Given the description of an element on the screen output the (x, y) to click on. 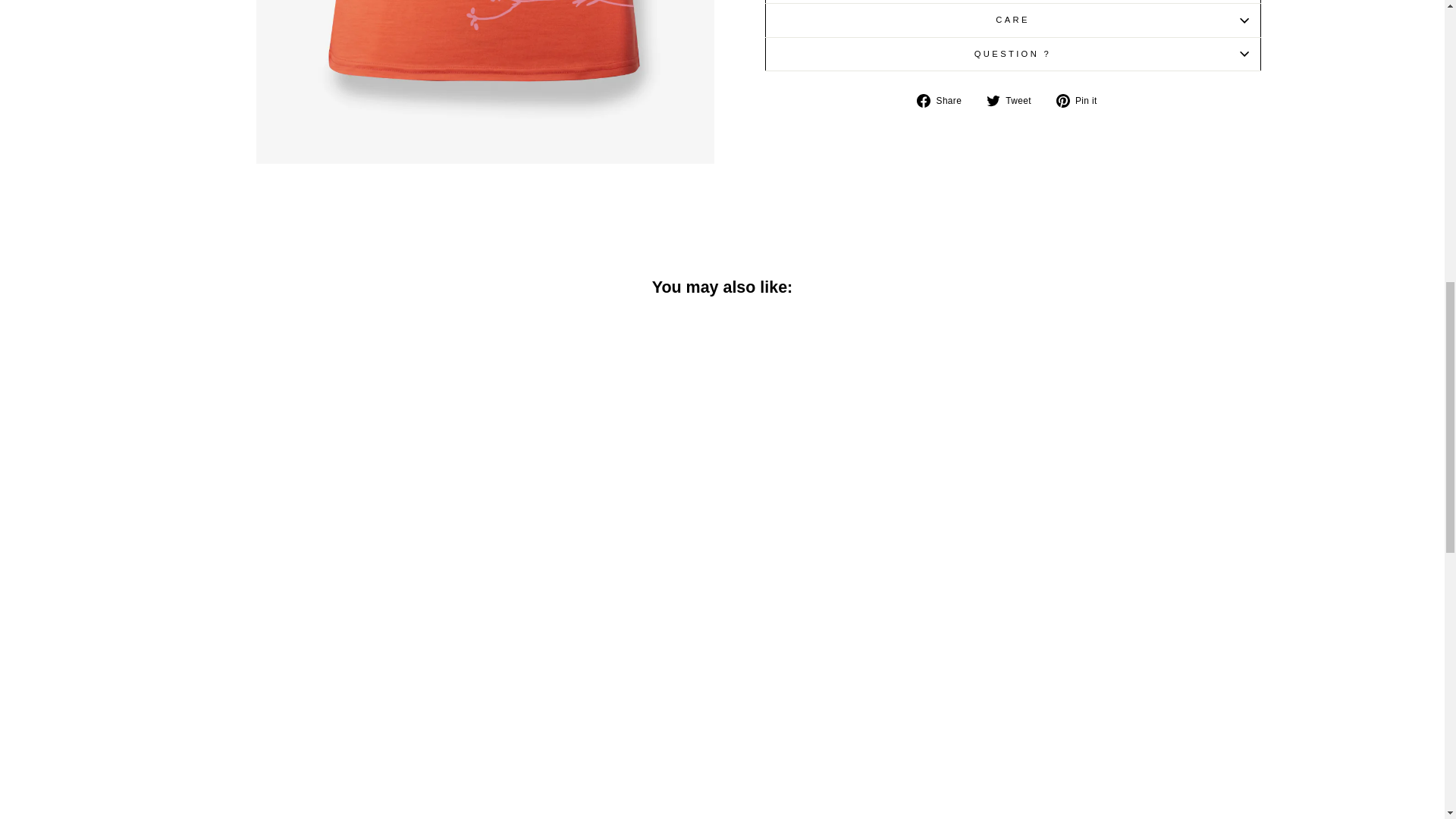
Share on Facebook (944, 100)
twitter (993, 100)
Tweet on Twitter (1014, 100)
Pin on Pinterest (1082, 100)
